Given the description of an element on the screen output the (x, y) to click on. 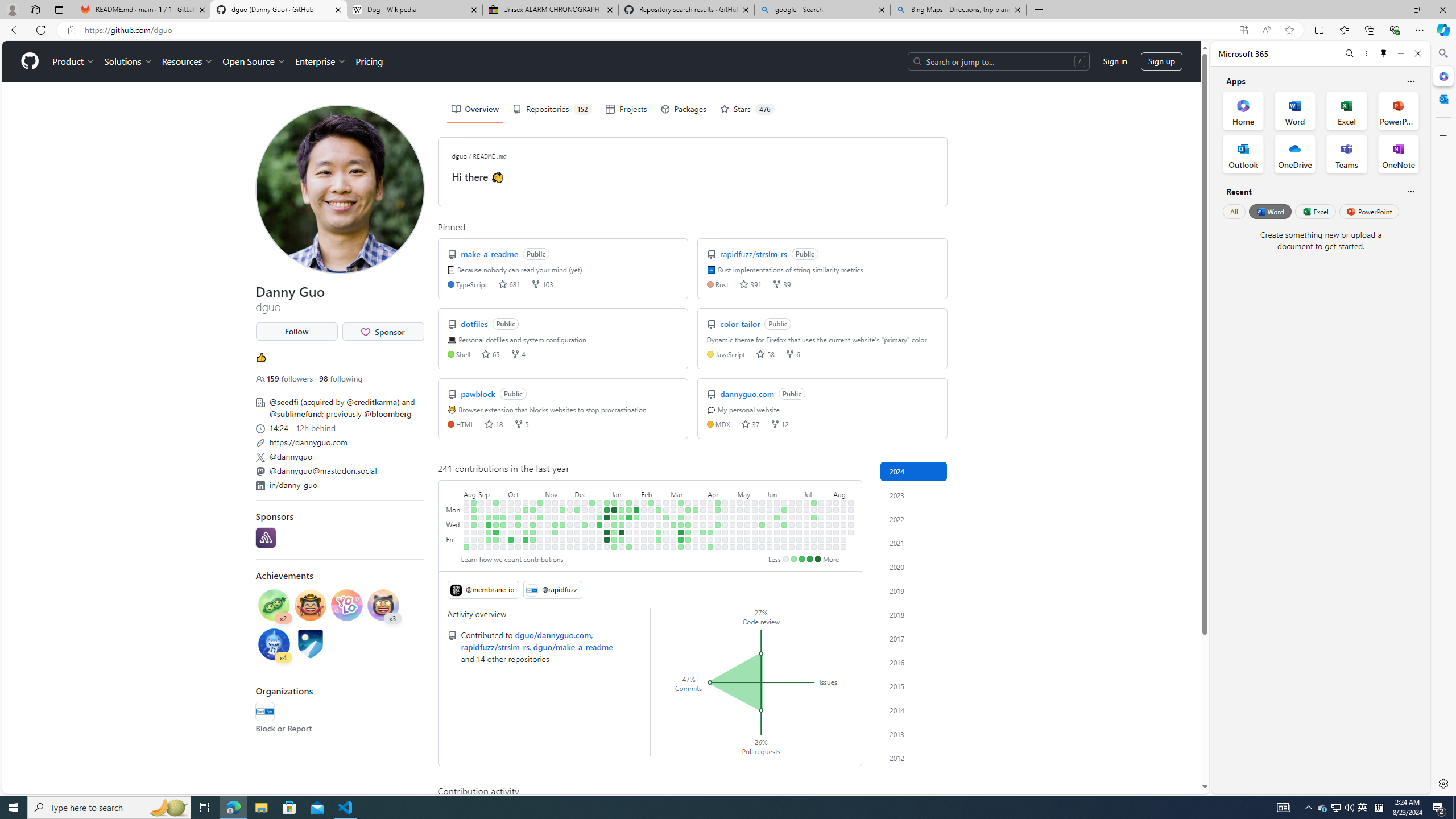
1 contribution on June 17th. (784, 509)
3 contributions on September 20th. (496, 524)
1 contribution on October 19th. (525, 531)
@dannyguo@mastodon.social (323, 470)
No contributions on August 19th. (850, 509)
No contributions on October 15th. (525, 502)
@bloomberg (388, 413)
1 contribution on October 16th. (525, 509)
May (750, 492)
No contributions on February 2nd. (636, 539)
No contributions on November 5th. (547, 502)
No contributions on December 9th. (577, 546)
No contributions on March 24th. (695, 502)
2019 (913, 590)
